Given the description of an element on the screen output the (x, y) to click on. 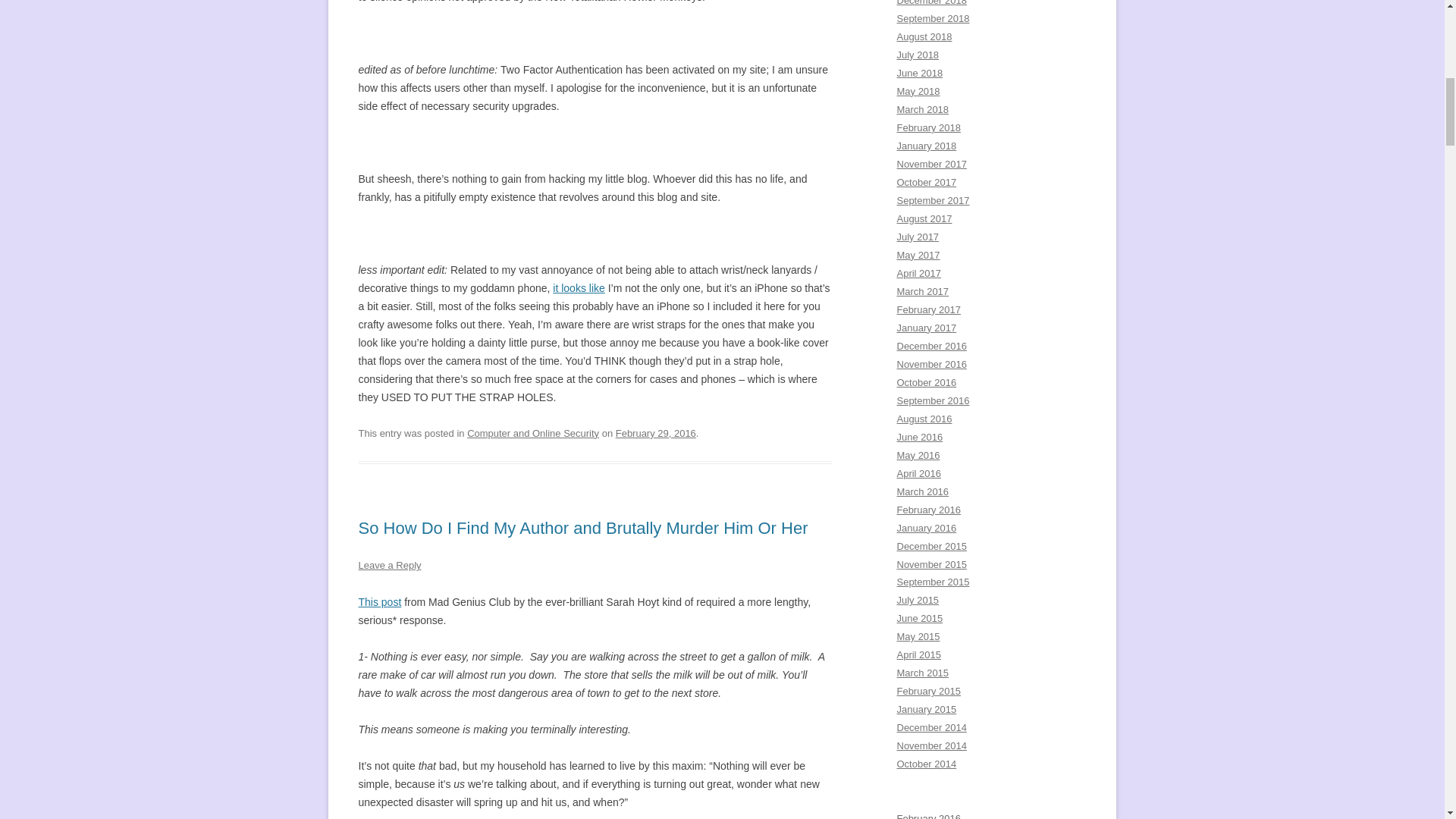
This post (379, 602)
03:47 (655, 432)
February 29, 2016 (655, 432)
it looks like (578, 287)
Leave a Reply (389, 564)
So How Do I Find My Author and Brutally Murder Him Or Her (583, 527)
Computer and Online Security (532, 432)
